Given the description of an element on the screen output the (x, y) to click on. 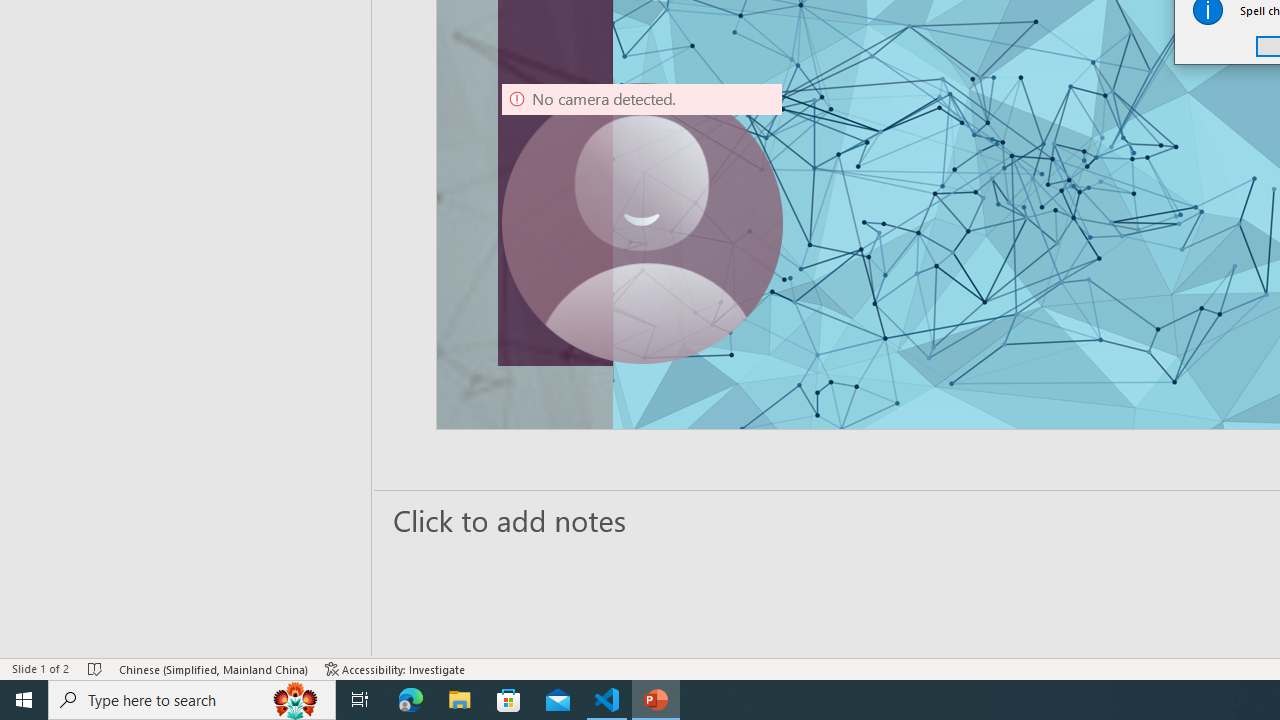
Camera 9, No camera detected. (641, 223)
